Given the description of an element on the screen output the (x, y) to click on. 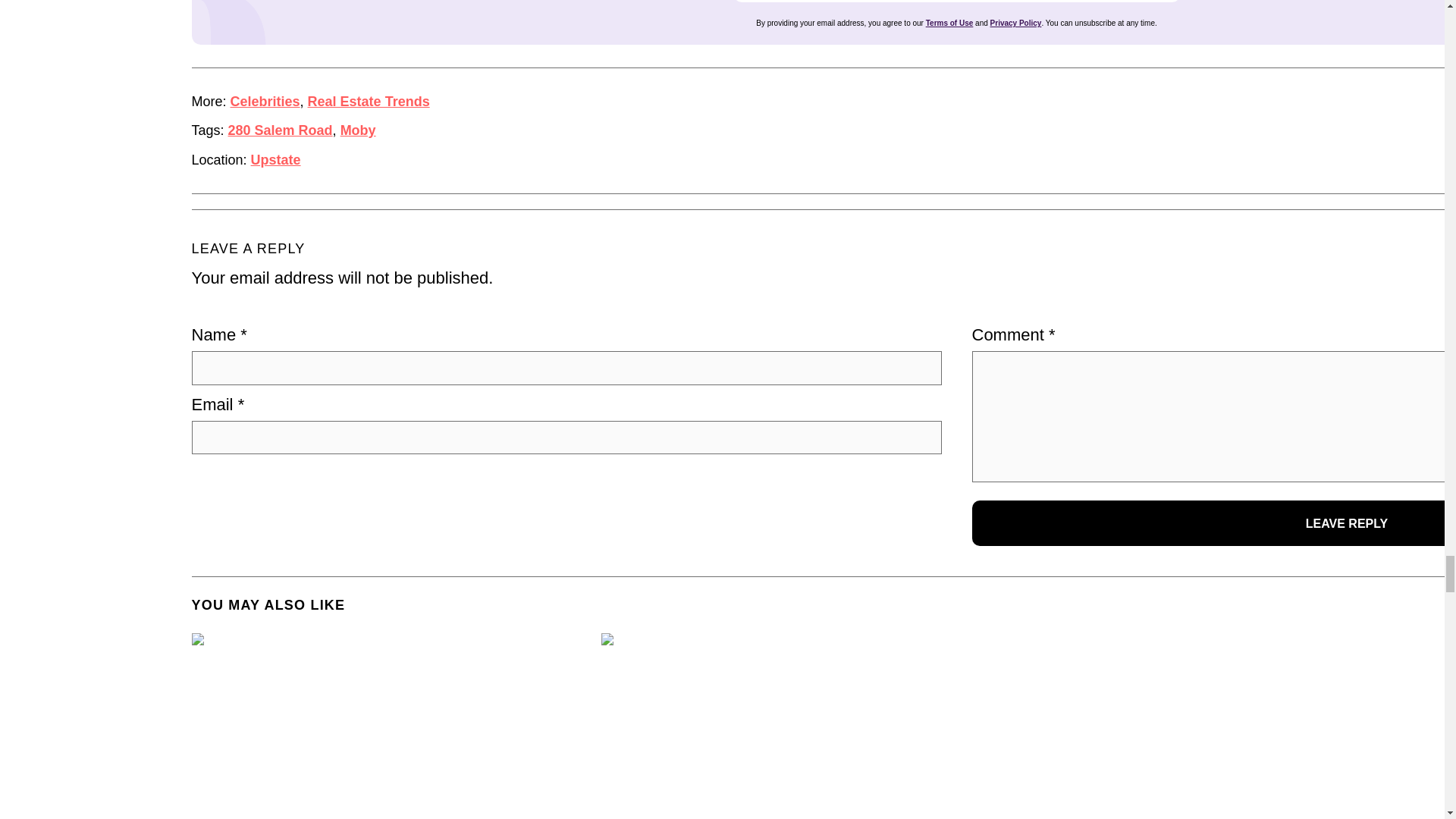
Leave Reply (1214, 523)
Real Estate Trends (368, 101)
Celebrities (264, 101)
Privacy Policy (1016, 22)
Terms of Use (950, 22)
